Given the description of an element on the screen output the (x, y) to click on. 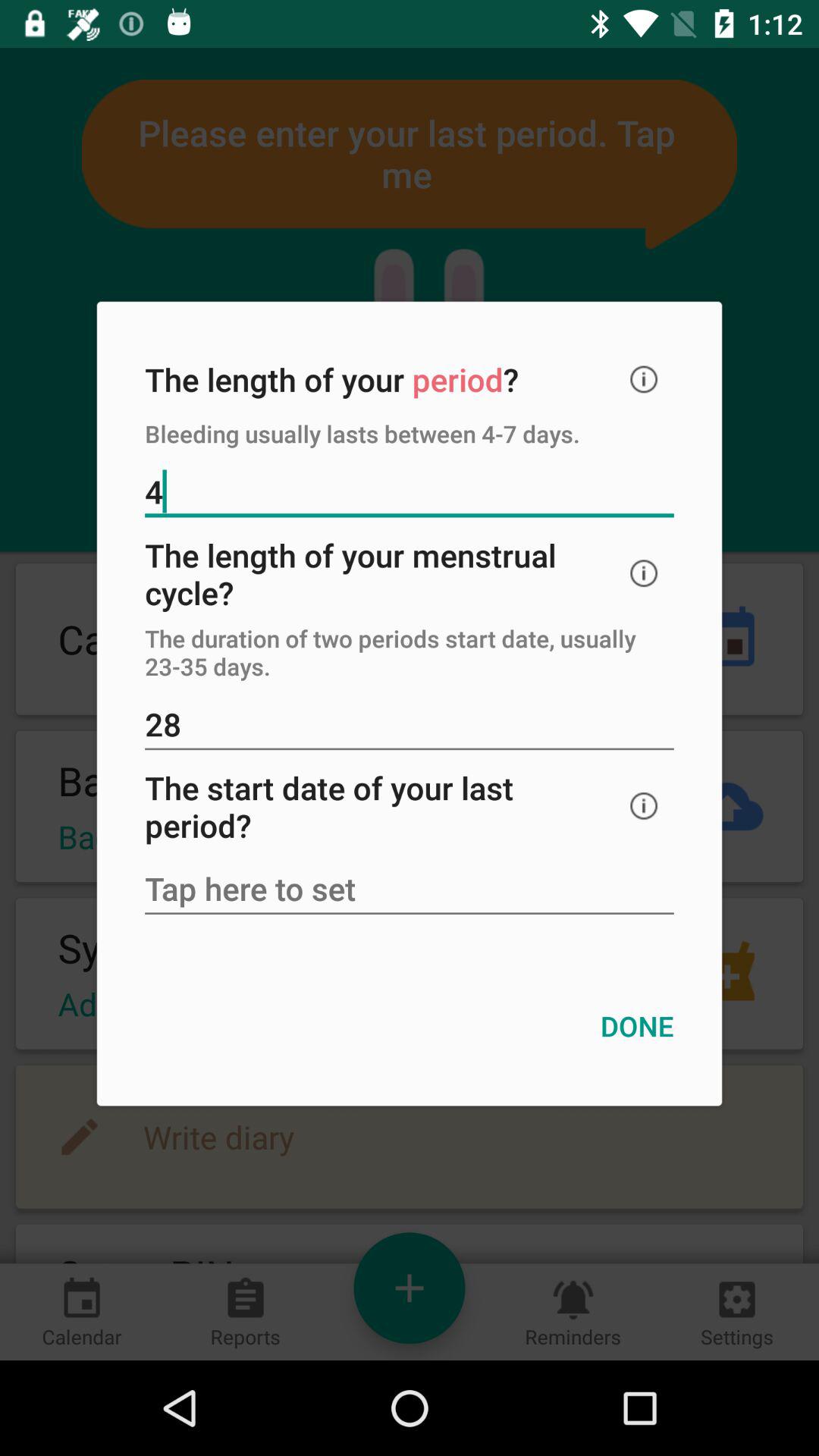
choose the icon below the 4 item (643, 573)
